Given the description of an element on the screen output the (x, y) to click on. 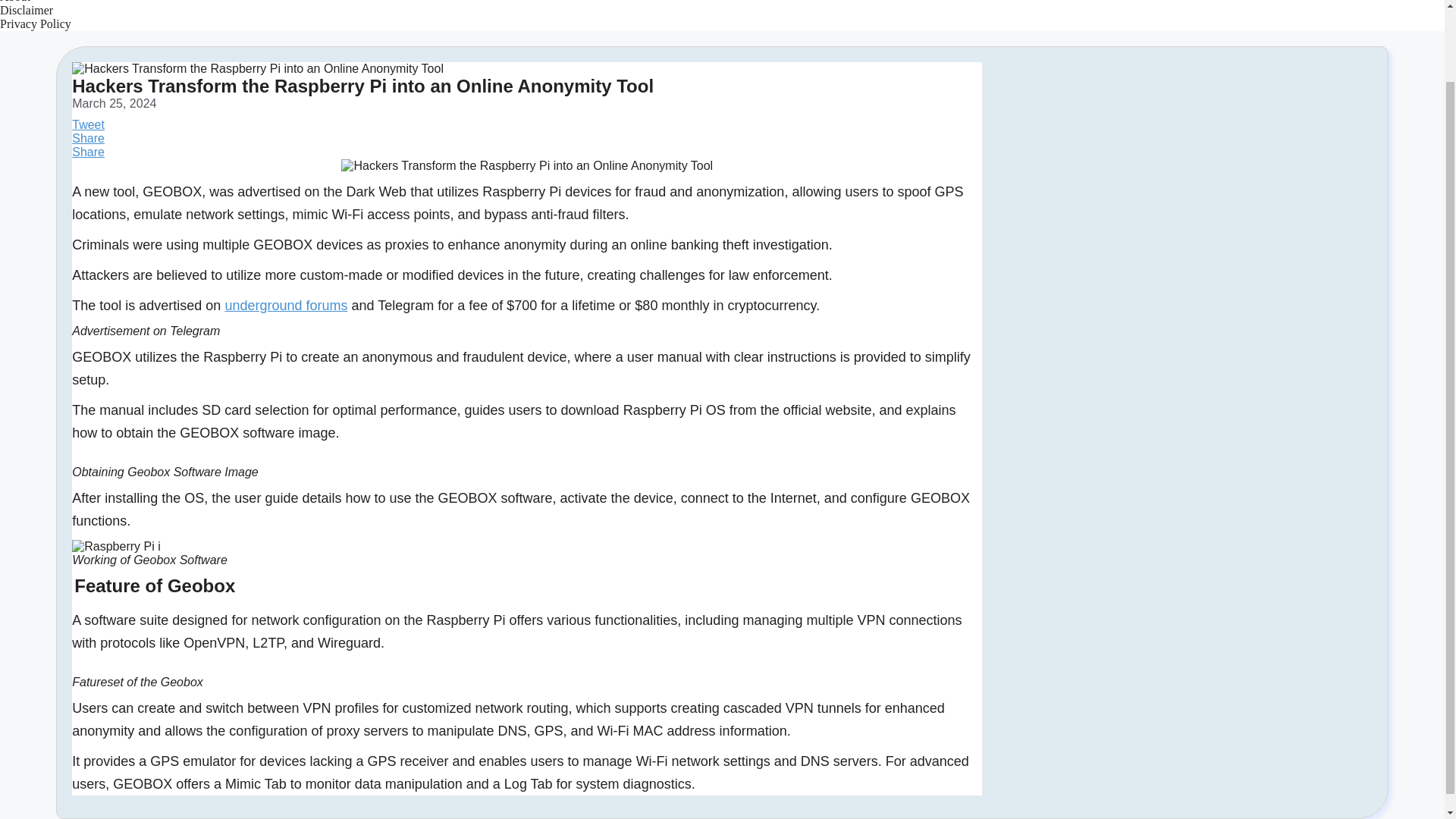
Disclaimer (26, 10)
Tweet (87, 124)
Privacy Policy (35, 23)
About (15, 1)
Share (87, 151)
underground forums (285, 305)
Share (87, 137)
